Given the description of an element on the screen output the (x, y) to click on. 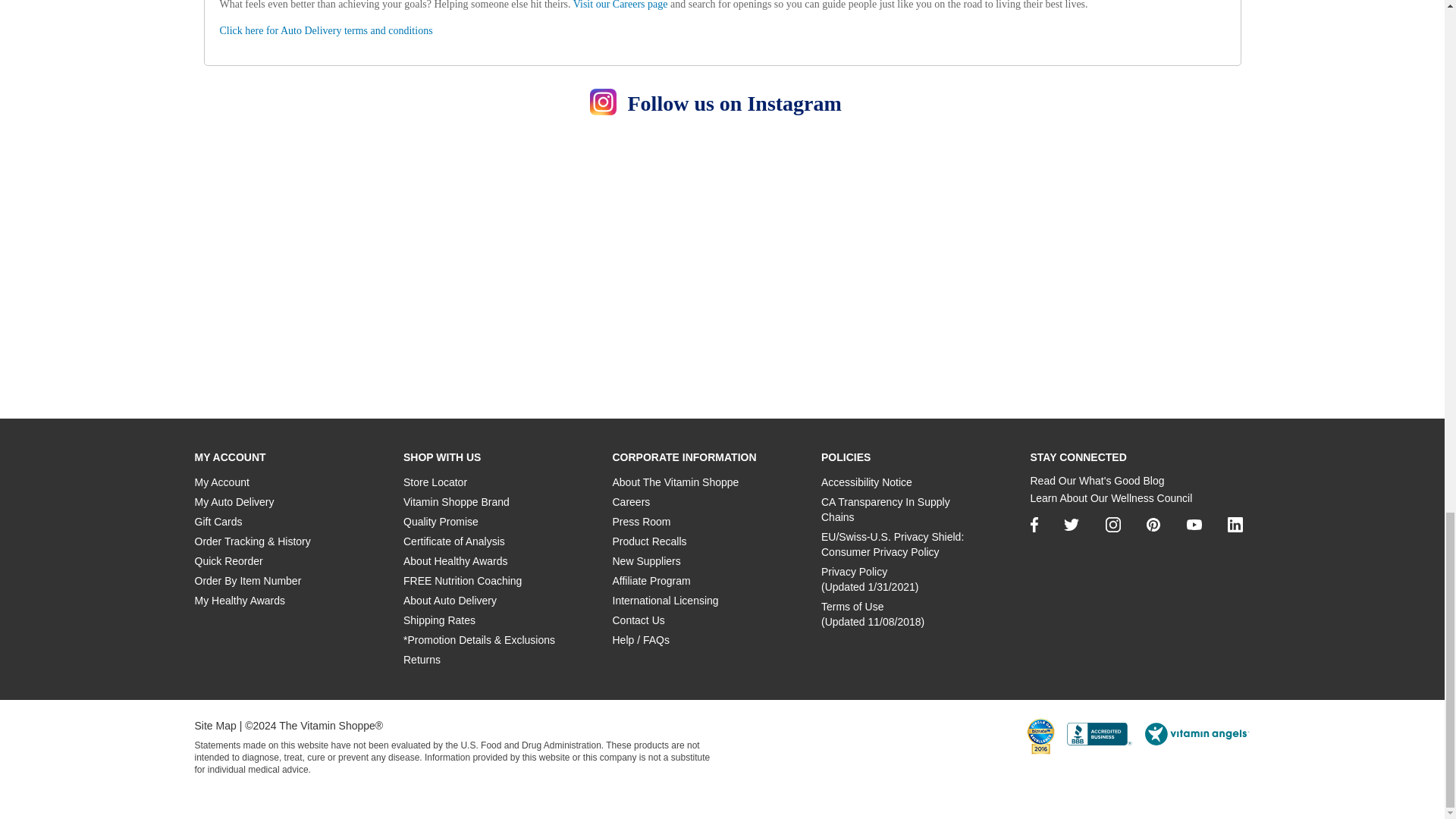
Twitter (1071, 524)
LinkedIn (1235, 524)
vitamin angels (1195, 733)
Accredited business (1098, 733)
Instagram (1113, 524)
Pinterest (1153, 524)
YouTube (1193, 524)
